Given the description of an element on the screen output the (x, y) to click on. 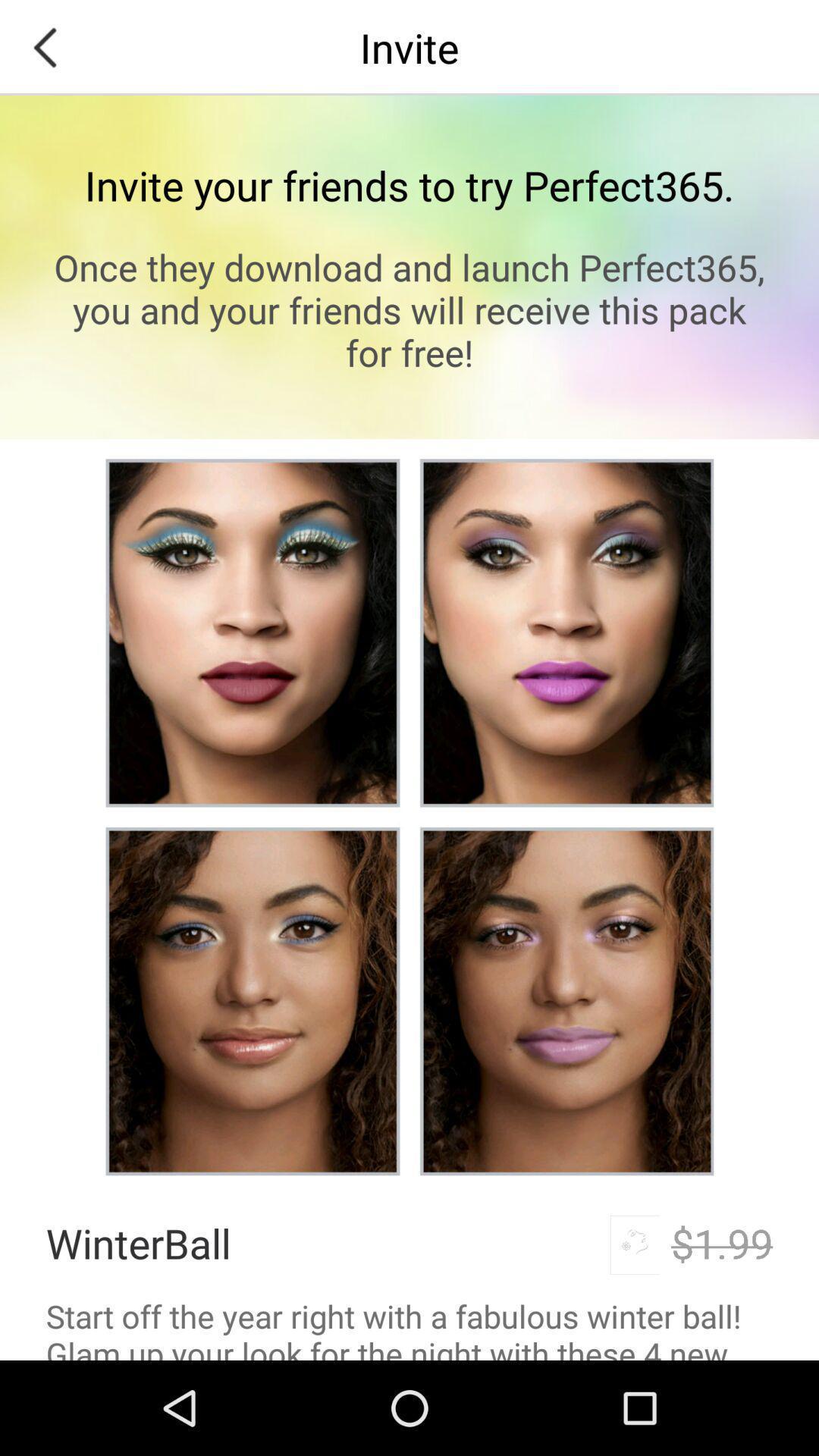
choose icon below the invite your friends icon (409, 309)
